Given the description of an element on the screen output the (x, y) to click on. 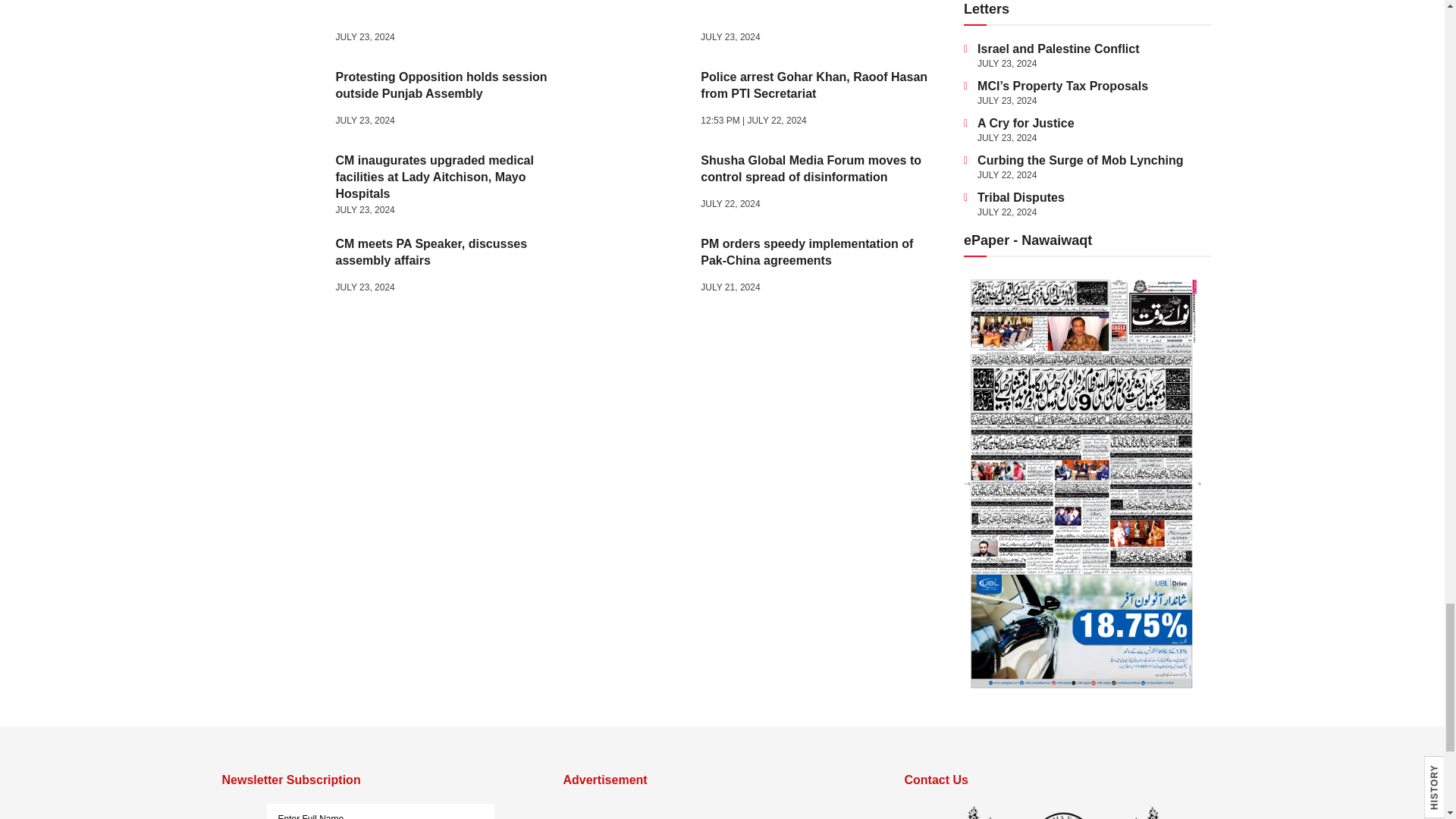
Asylum seekers allowed passports (643, 24)
Minister reviews progress in 27 schemes (278, 24)
Police arrest Gohar Khan, Raoof Hasan from PTI Secretariat (643, 100)
PM orders speedy implementation of Pak-China agreements (643, 267)
Protesting Opposition holds session outside Punjab Assembly (278, 100)
CM meets PA Speaker, discusses assembly affairs (278, 267)
